Given the description of an element on the screen output the (x, y) to click on. 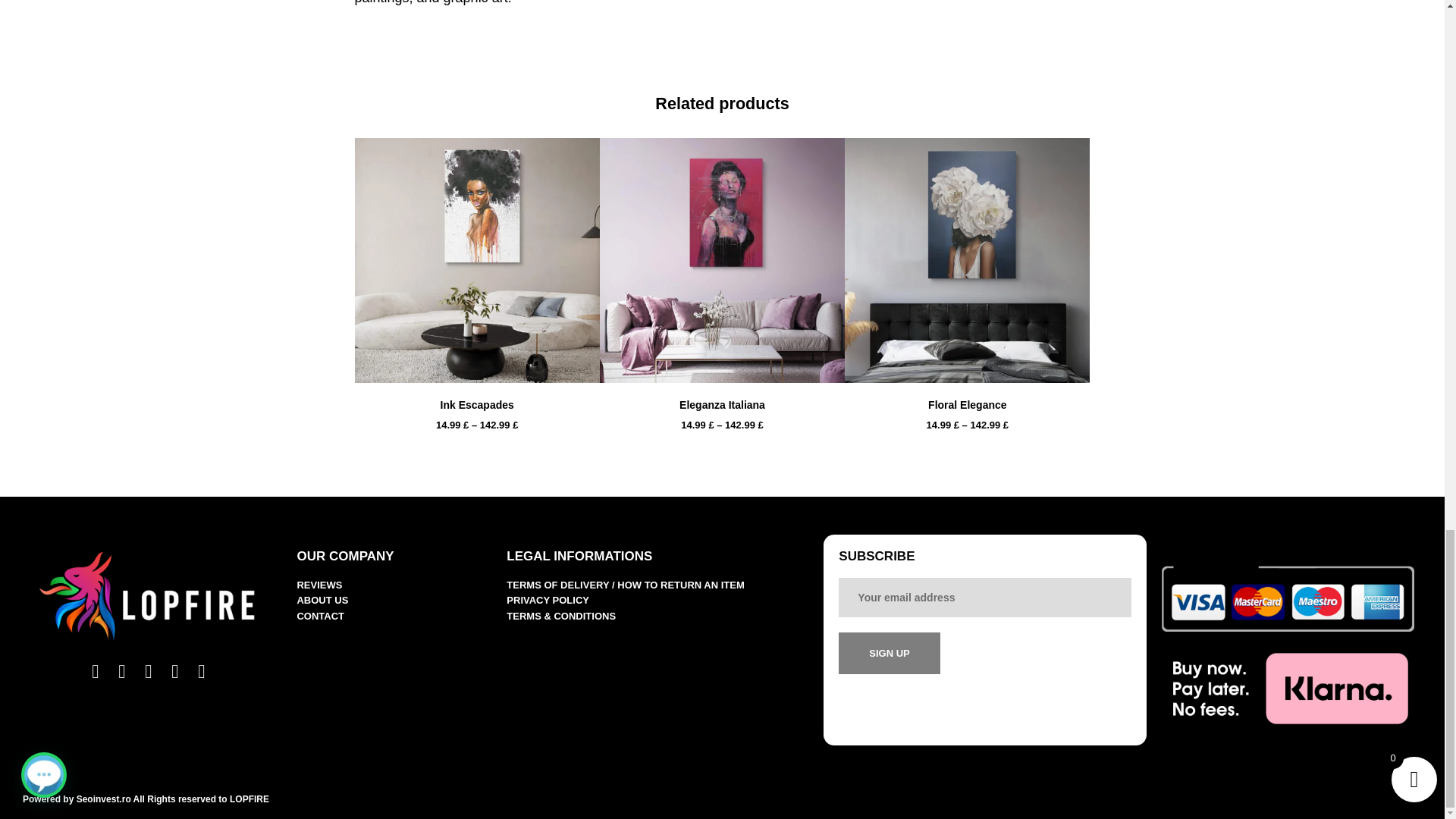
Sign up (888, 653)
